Given the description of an element on the screen output the (x, y) to click on. 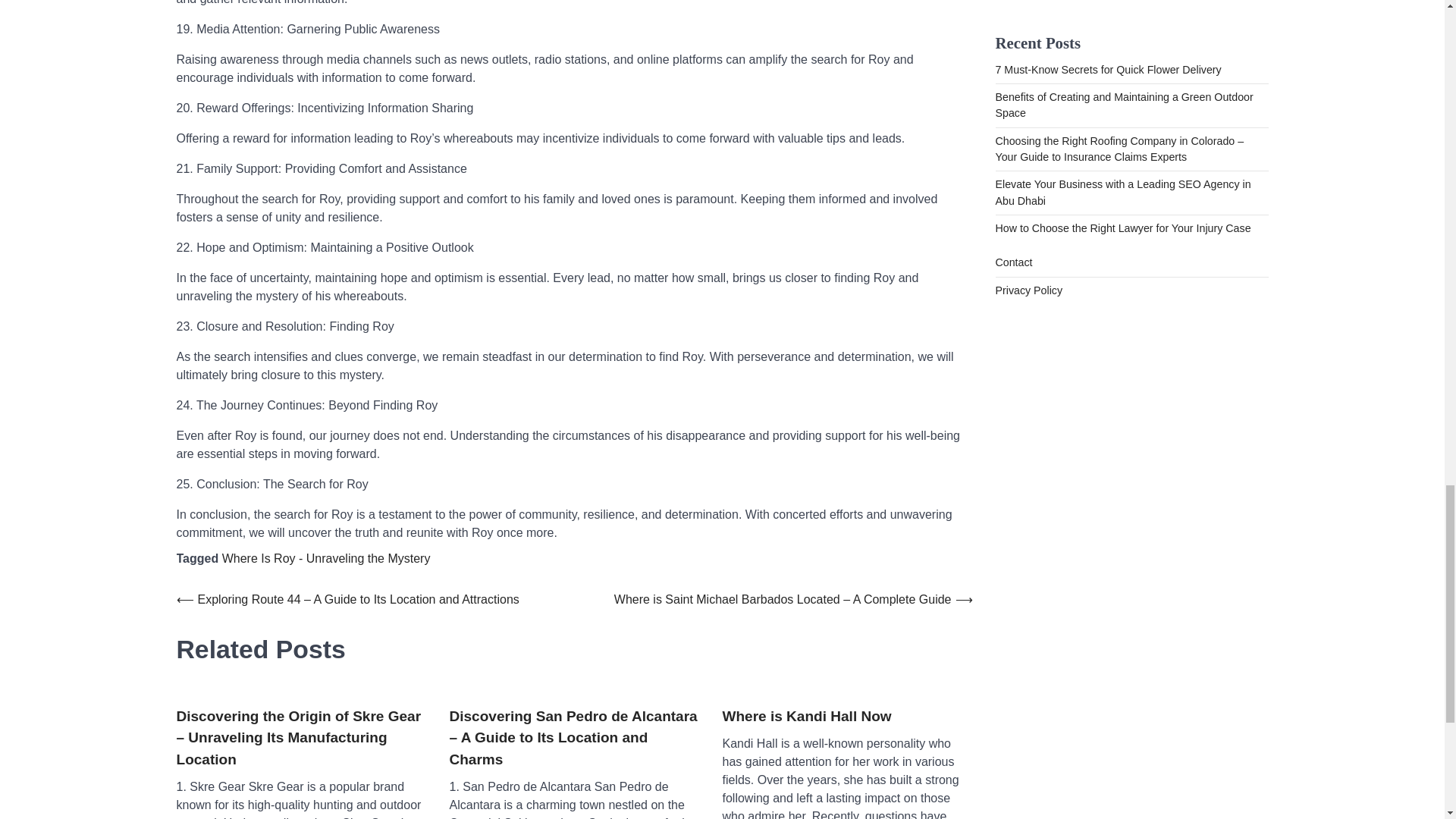
Where is Kandi Hall Now (806, 716)
Where Is Roy - Unraveling the Mystery (326, 558)
